Given the description of an element on the screen output the (x, y) to click on. 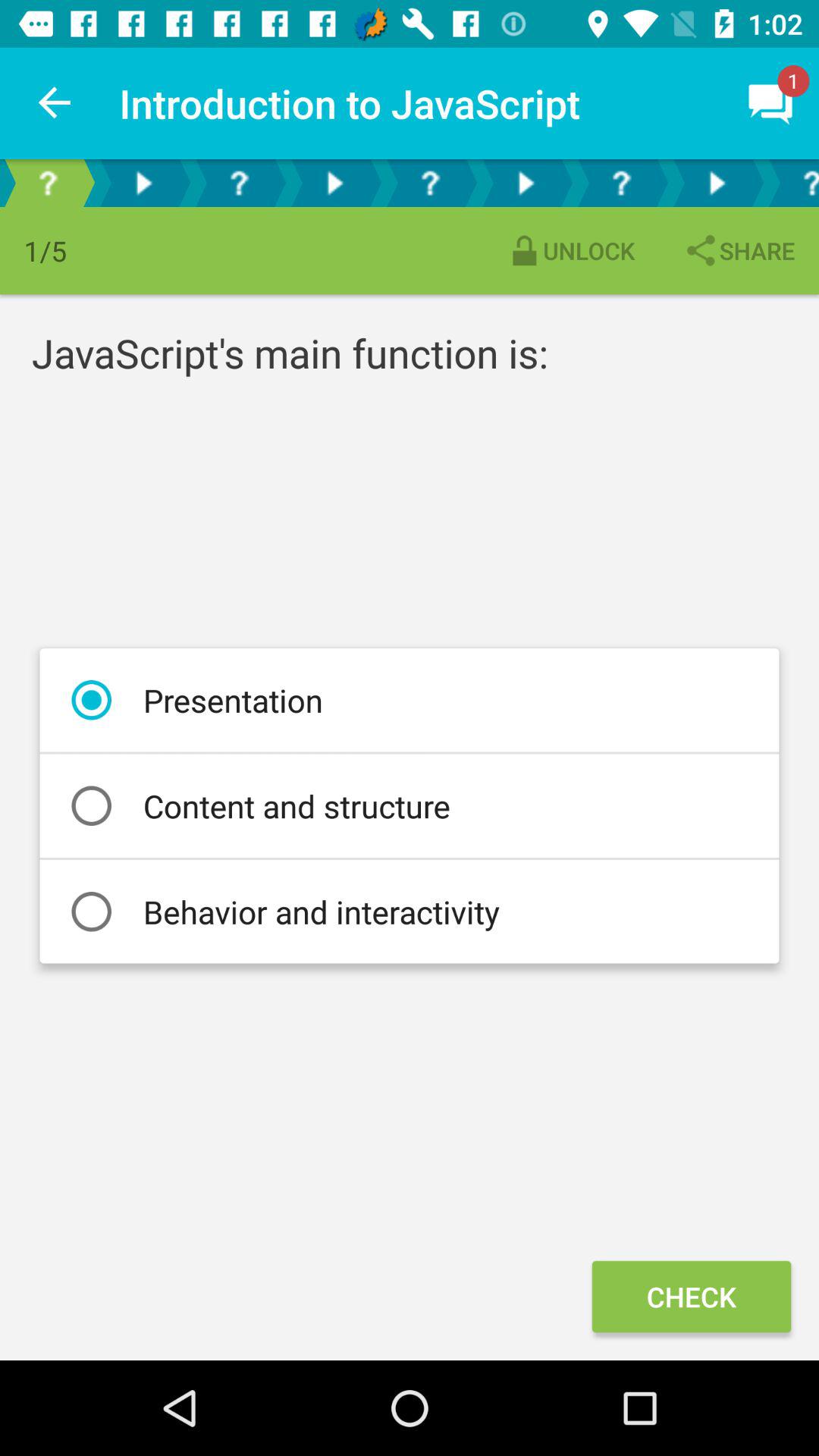
jump to the unlock icon (570, 250)
